Given the description of an element on the screen output the (x, y) to click on. 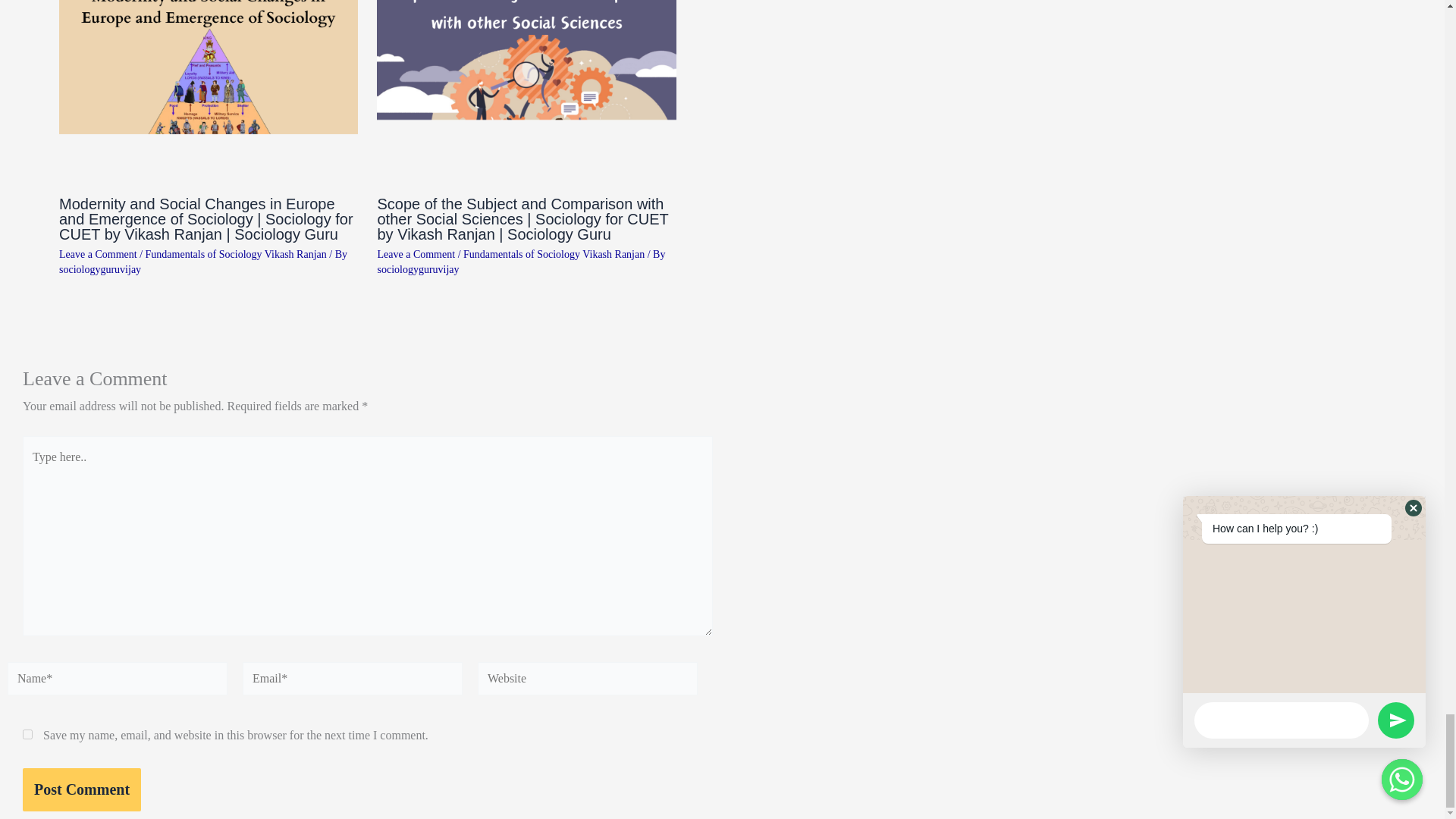
View all posts by sociologyguruvijay (417, 269)
Leave a Comment (97, 254)
yes (27, 734)
sociologyguruvijay (100, 269)
Fundamentals of Sociology Vikash Ranjan (554, 254)
Post Comment (82, 789)
Fundamentals of Sociology Vikash Ranjan (235, 254)
Post Comment (82, 789)
View all posts by sociologyguruvijay (100, 269)
Leave a Comment (415, 254)
